Given the description of an element on the screen output the (x, y) to click on. 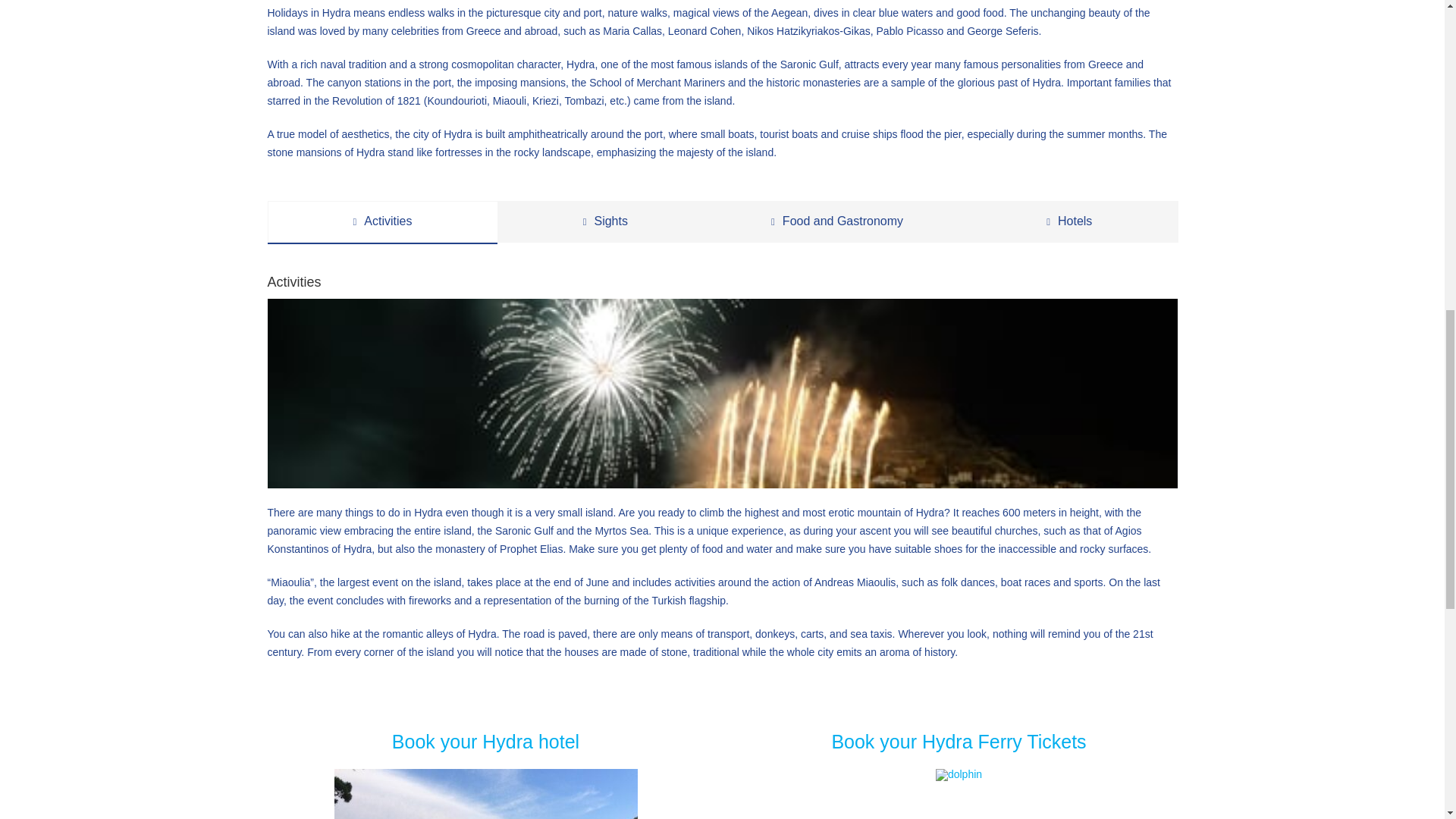
Hydra 5 (958, 775)
Book your Hydra Ferry Tickets (958, 741)
Book your Hydra hotel (485, 741)
Hotels (1068, 220)
Hydra 4 (485, 794)
Food and Gastronomy (836, 220)
Activities (381, 220)
Sights (605, 220)
